Given the description of an element on the screen output the (x, y) to click on. 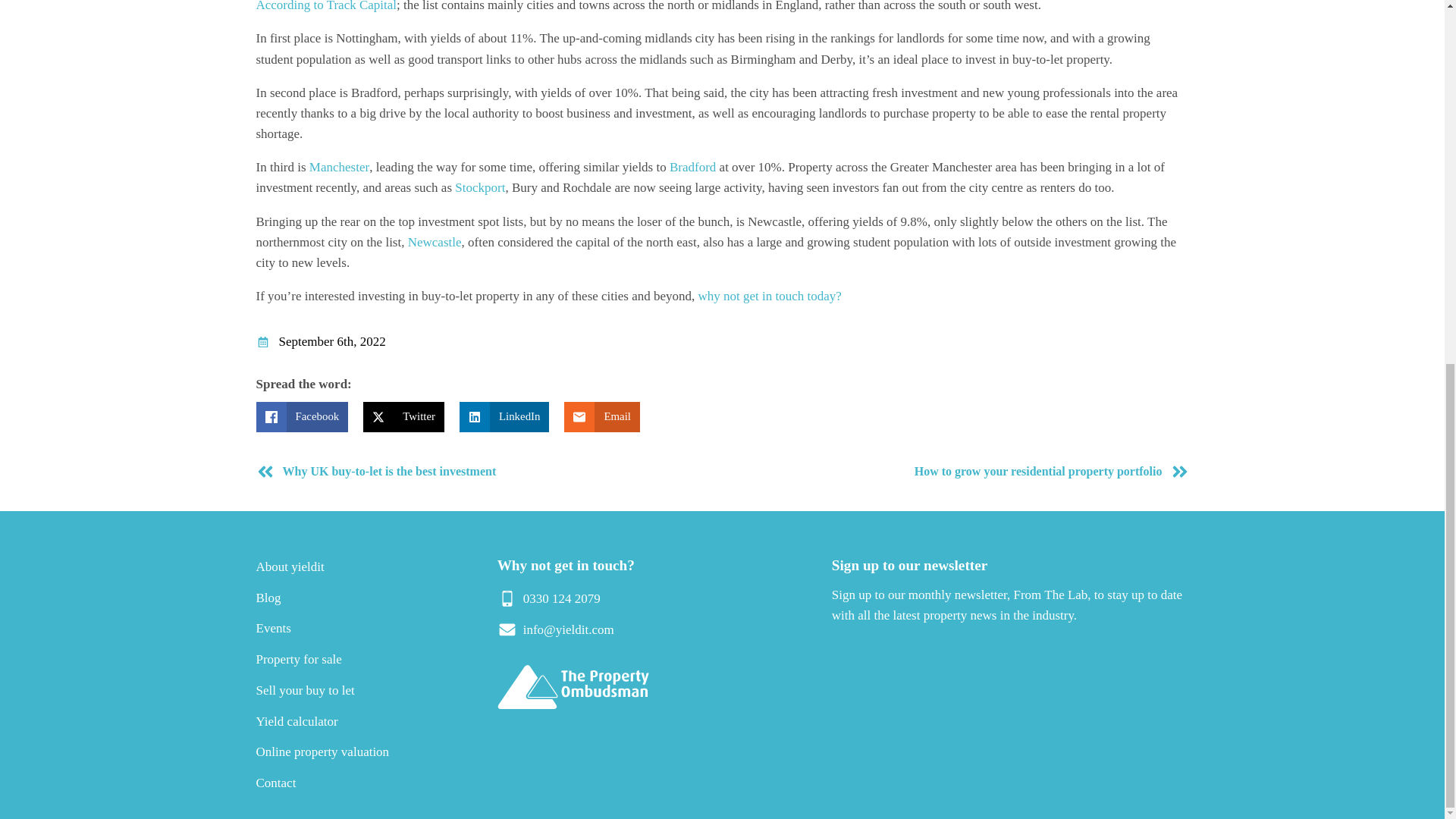
Newcastle (434, 242)
why not get in touch today? (769, 296)
Stockport (479, 187)
Manchester (338, 166)
About yieldit (290, 566)
Sell your buy to let (305, 690)
Events (273, 627)
Bradford (692, 166)
Property for sale (299, 658)
Contact (276, 782)
According to Track Capital (326, 6)
Yield calculator (296, 721)
Why UK buy-to-let is the best investment (485, 471)
How to grow your residential property portfolio (958, 471)
Online property valuation (323, 751)
